Given the description of an element on the screen output the (x, y) to click on. 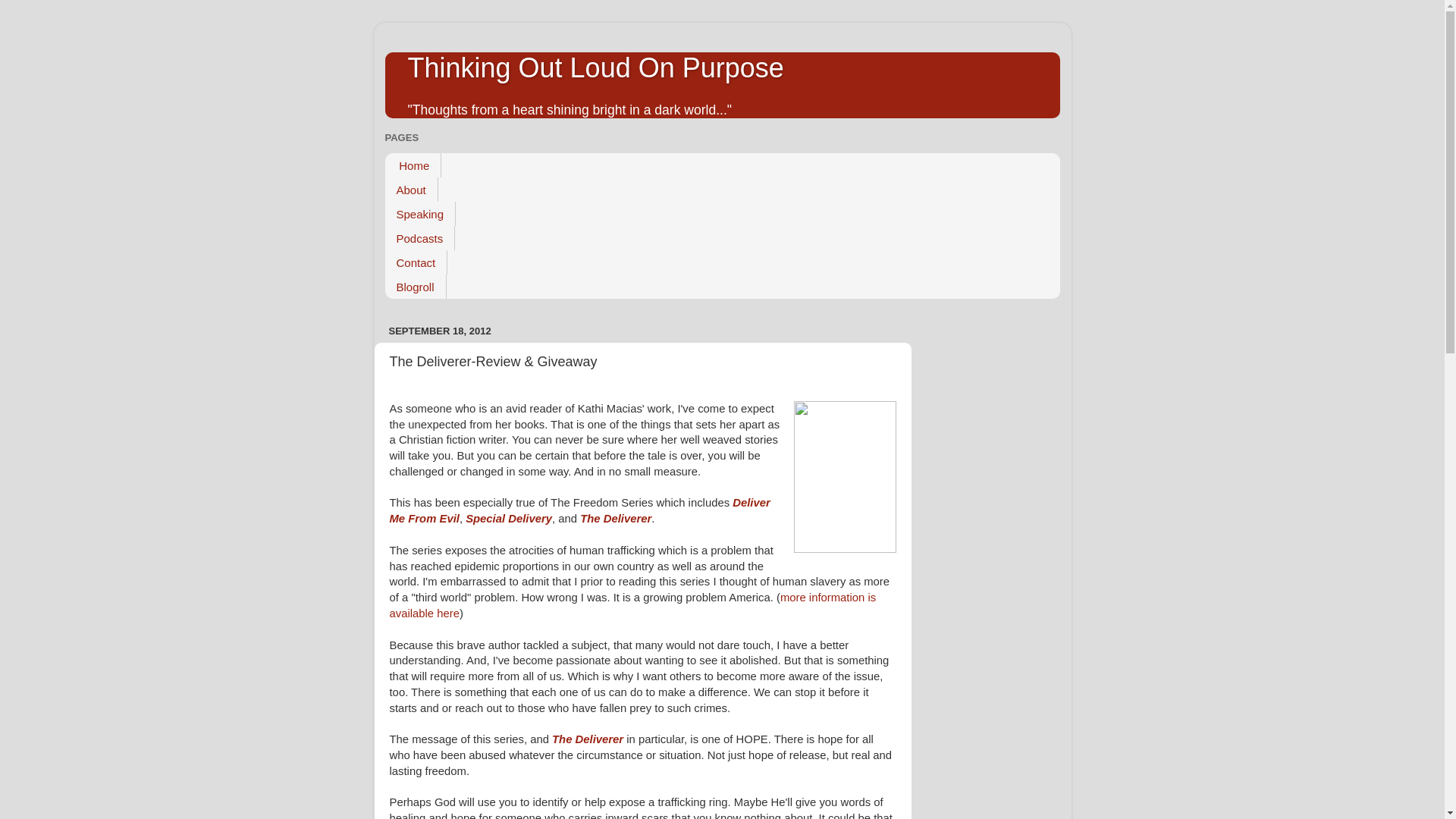
Contact (416, 262)
Speaking (421, 213)
The Deliverer (587, 739)
Home (413, 165)
The Deliverer (614, 518)
more information is available here (633, 605)
Blogroll (415, 286)
Podcasts (420, 238)
Deliver Me From Evil (580, 510)
Thinking Out Loud On Purpose (595, 67)
